Given the description of an element on the screen output the (x, y) to click on. 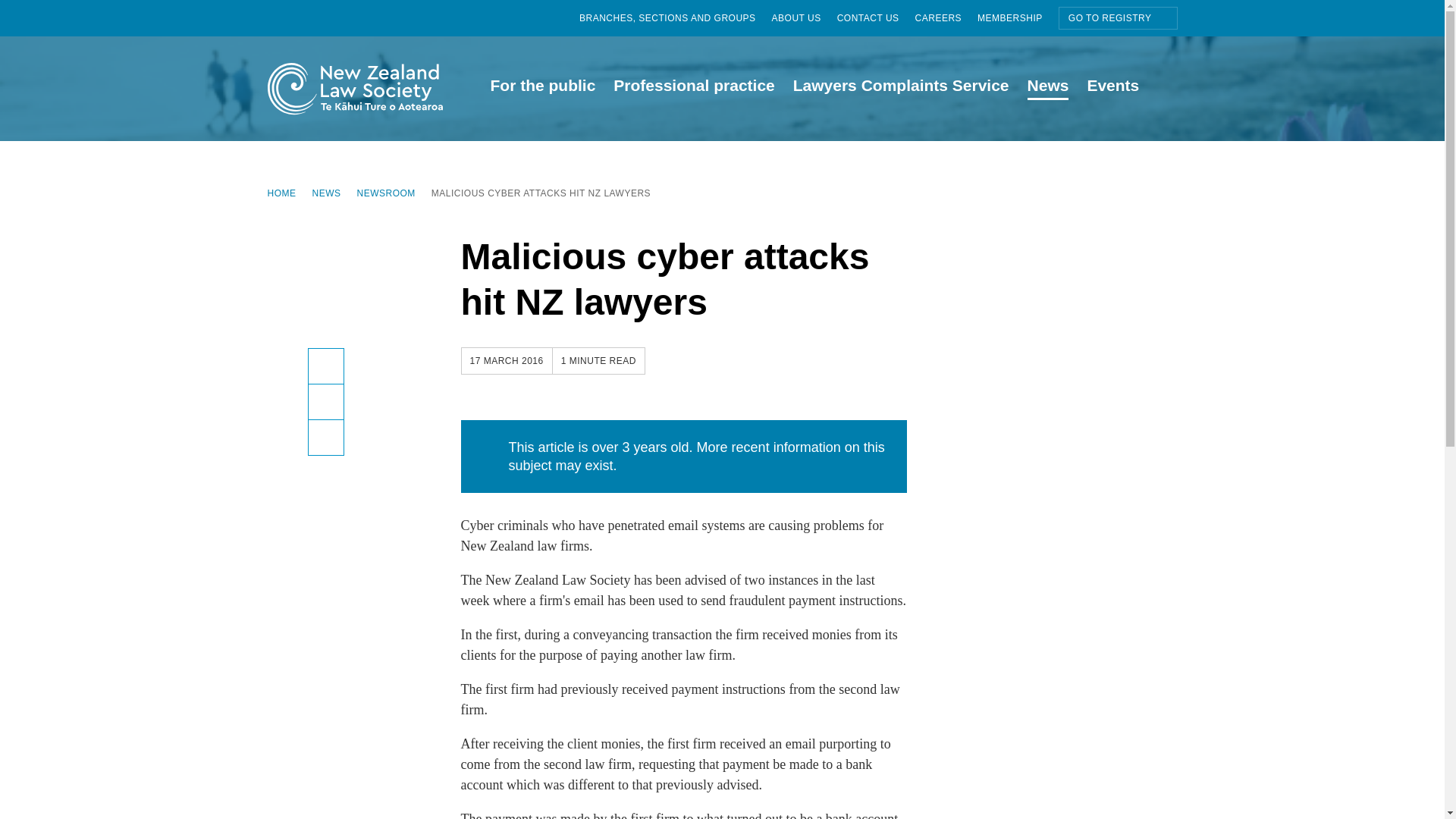
For the public (542, 88)
Professional practice (693, 88)
GO TO REGISTRY (1117, 17)
BRANCHES, SECTIONS AND GROUPS (675, 18)
CAREERS (946, 18)
ABOUT US (721, 193)
CONTACT US (804, 18)
MEMBERSHIP (876, 18)
